Given the description of an element on the screen output the (x, y) to click on. 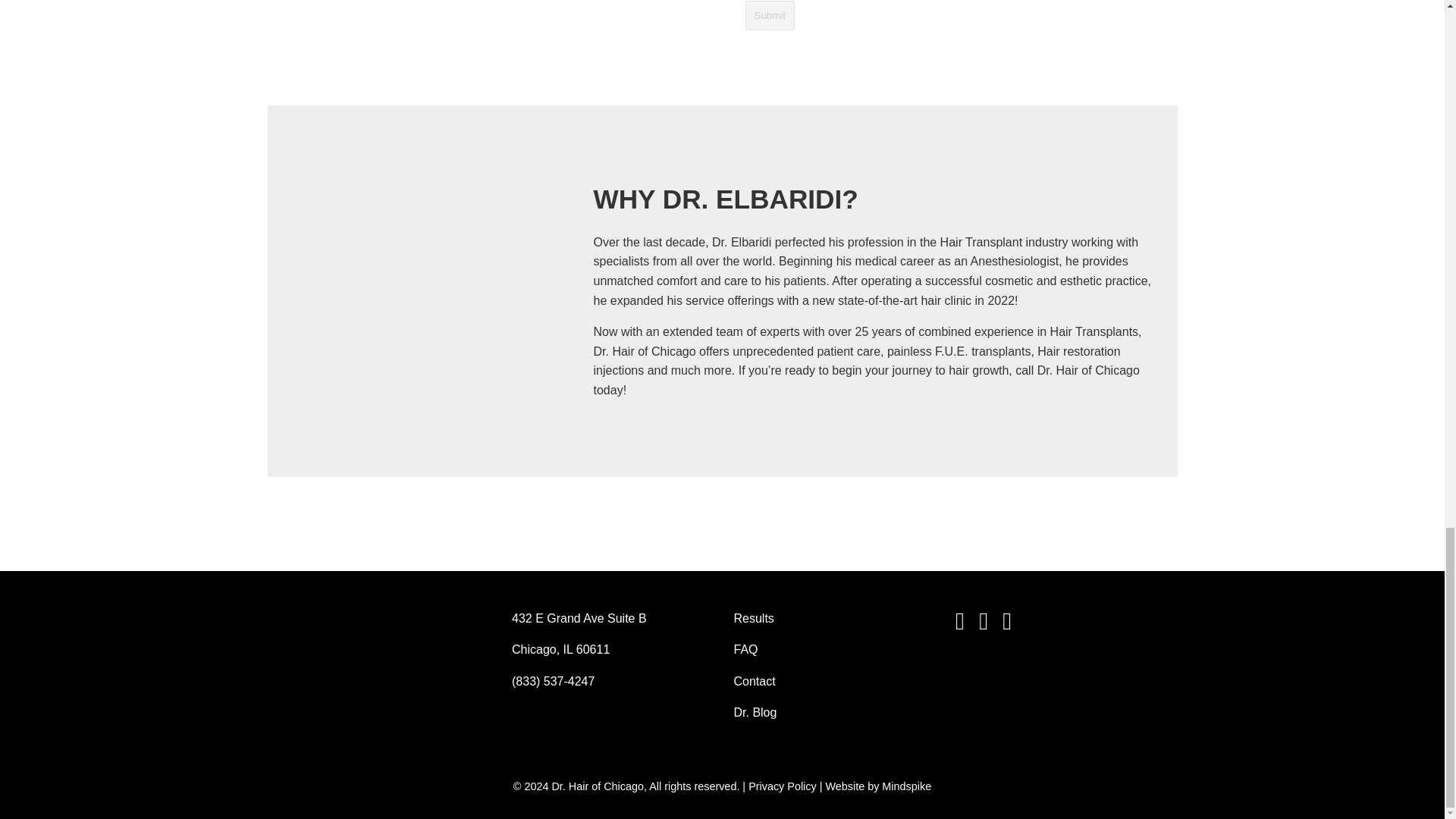
Website by Mindspike (878, 786)
Dr. Blog (755, 712)
Submit (768, 15)
Results (753, 617)
Privacy Policy (782, 786)
Contact (754, 680)
FAQ (745, 649)
Submit (768, 15)
